Given the description of an element on the screen output the (x, y) to click on. 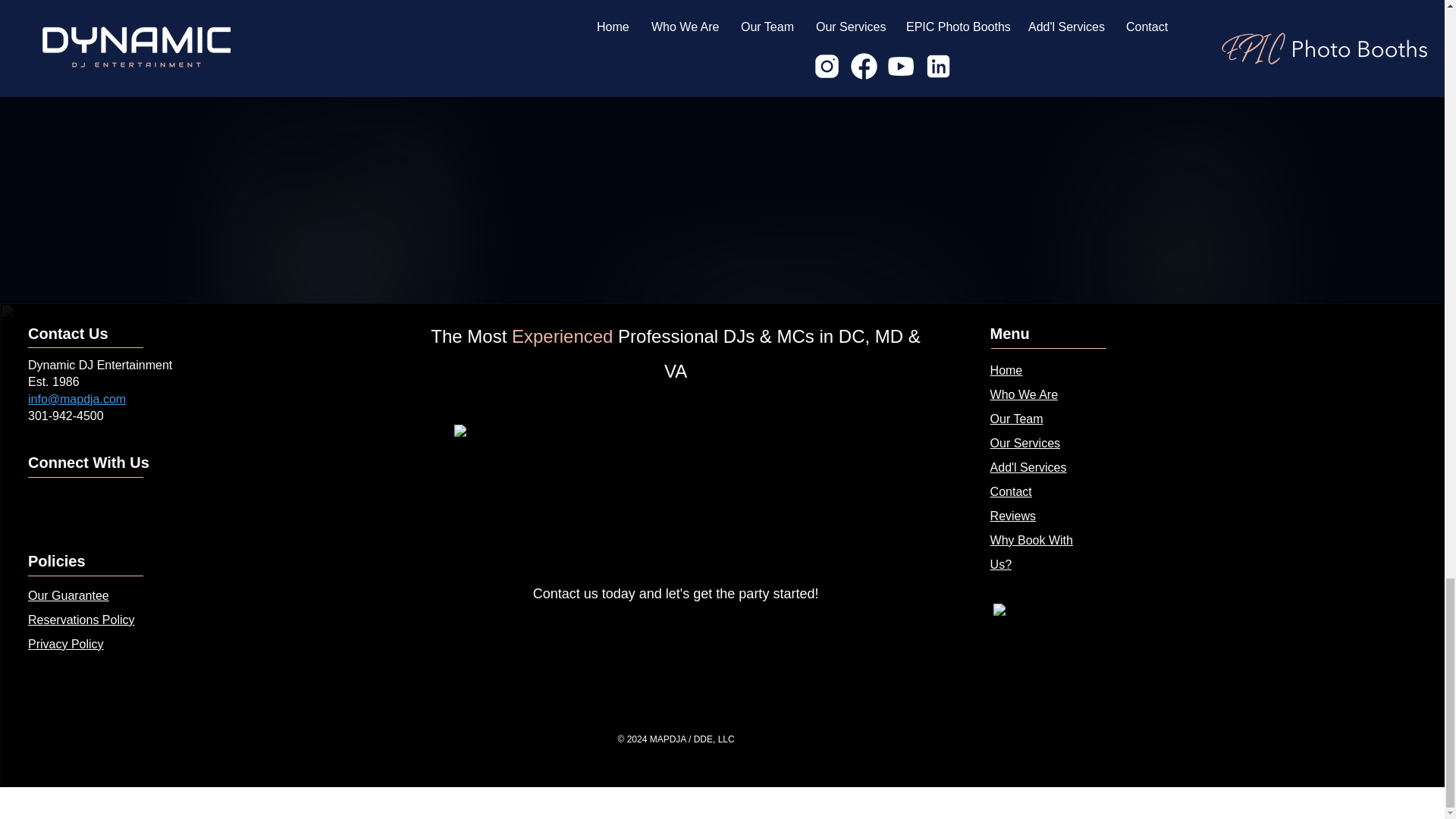
Reviews (1012, 515)
Our Guarantee (68, 594)
Add'l Services (1028, 467)
Our Team (1016, 418)
Reservations Policy (81, 619)
Who We Are (1024, 394)
Our Services (1024, 442)
Contact (1011, 491)
Home (1006, 369)
Why Book With Us? (1031, 551)
